Given the description of an element on the screen output the (x, y) to click on. 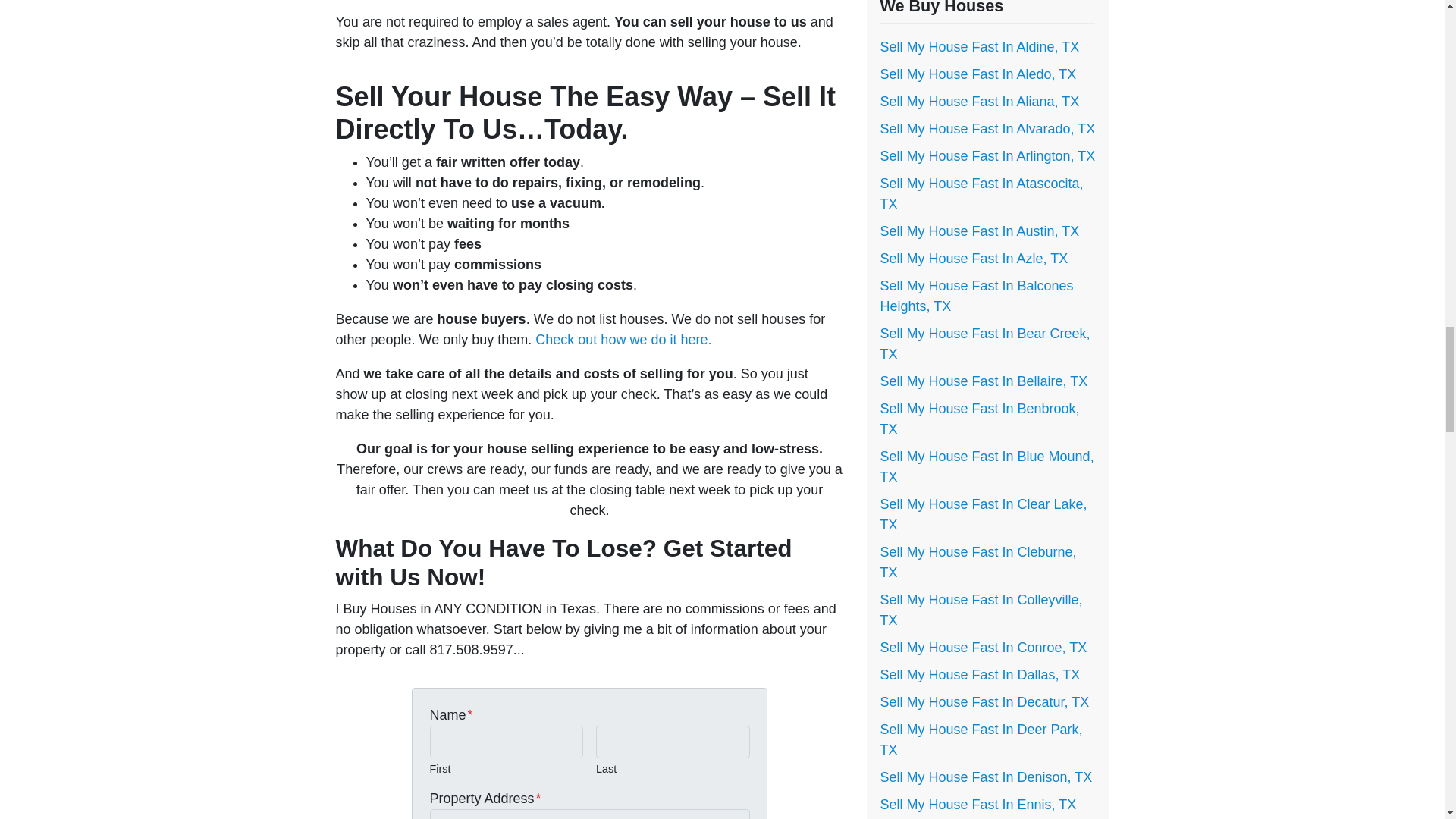
Sell My House Fast In Cleburne, TX (977, 561)
Sell My House Fast In Aliana, TX (978, 101)
Sell My House Fast In Dallas, TX (979, 674)
Sell My House Fast In Decatur, TX (984, 702)
Sell My House Fast In Deer Park, TX (980, 739)
Sell My House Fast In Bellaire, TX (983, 381)
Sell My House Fast In Bear Creek, TX (984, 343)
Sell My House Fast In Blue Mound, TX (986, 466)
Sell My House Fast In Arlington, TX (986, 155)
Sell My House Fast In Aldine, TX (978, 46)
Sell My House Fast In Atascocita, TX (981, 193)
Sell My House Fast In Benbrook, TX (978, 418)
Check out how we do it here. (623, 339)
Sell My House Fast In Denison, TX (985, 776)
Sell My House Fast In Conroe, TX (982, 647)
